Given the description of an element on the screen output the (x, y) to click on. 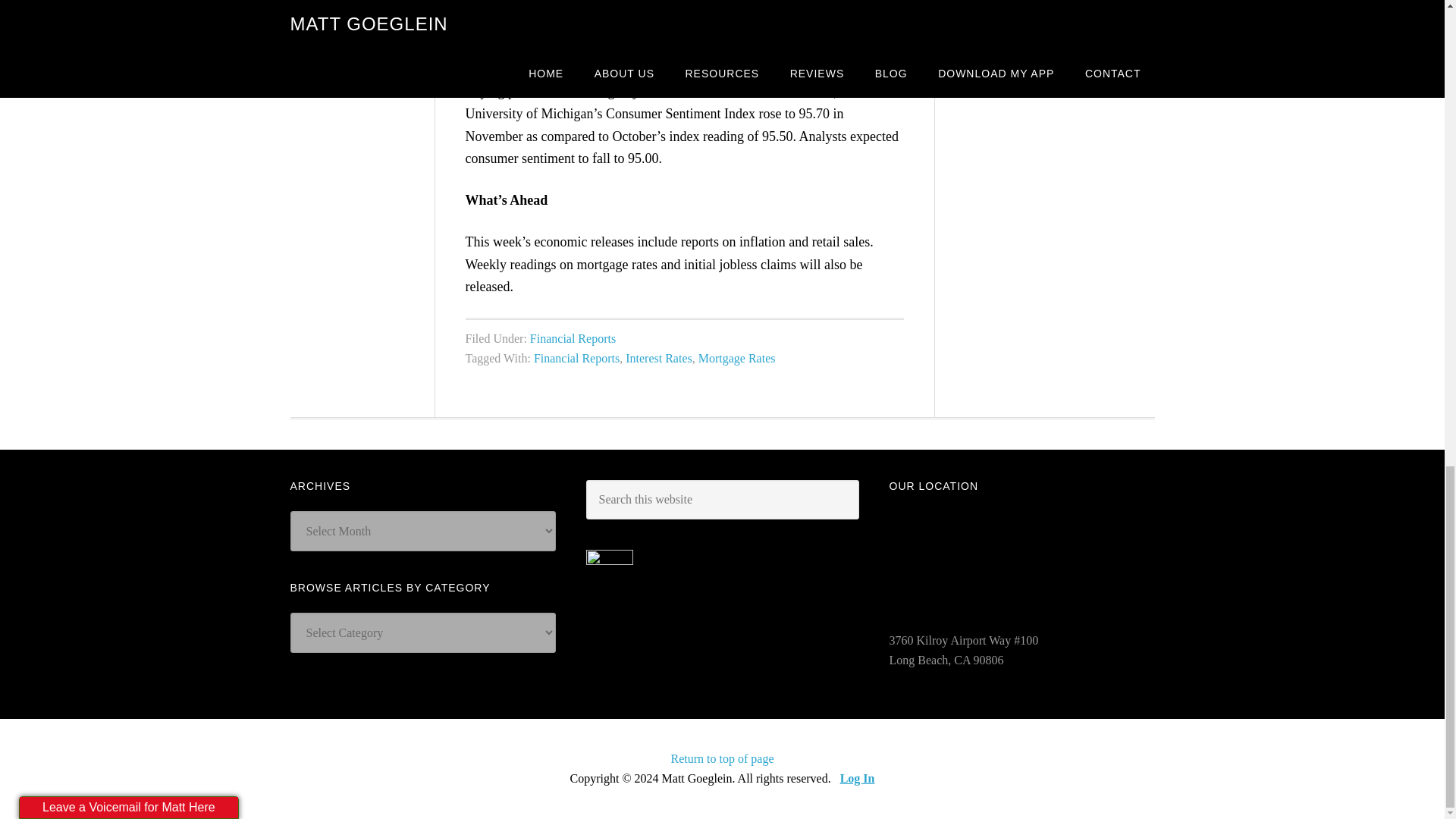
Return to top of page (722, 758)
Financial Reports (572, 338)
Log In (857, 778)
Interest Rates (659, 358)
Financial Reports (577, 358)
Mortgage Rates (737, 358)
